Given the description of an element on the screen output the (x, y) to click on. 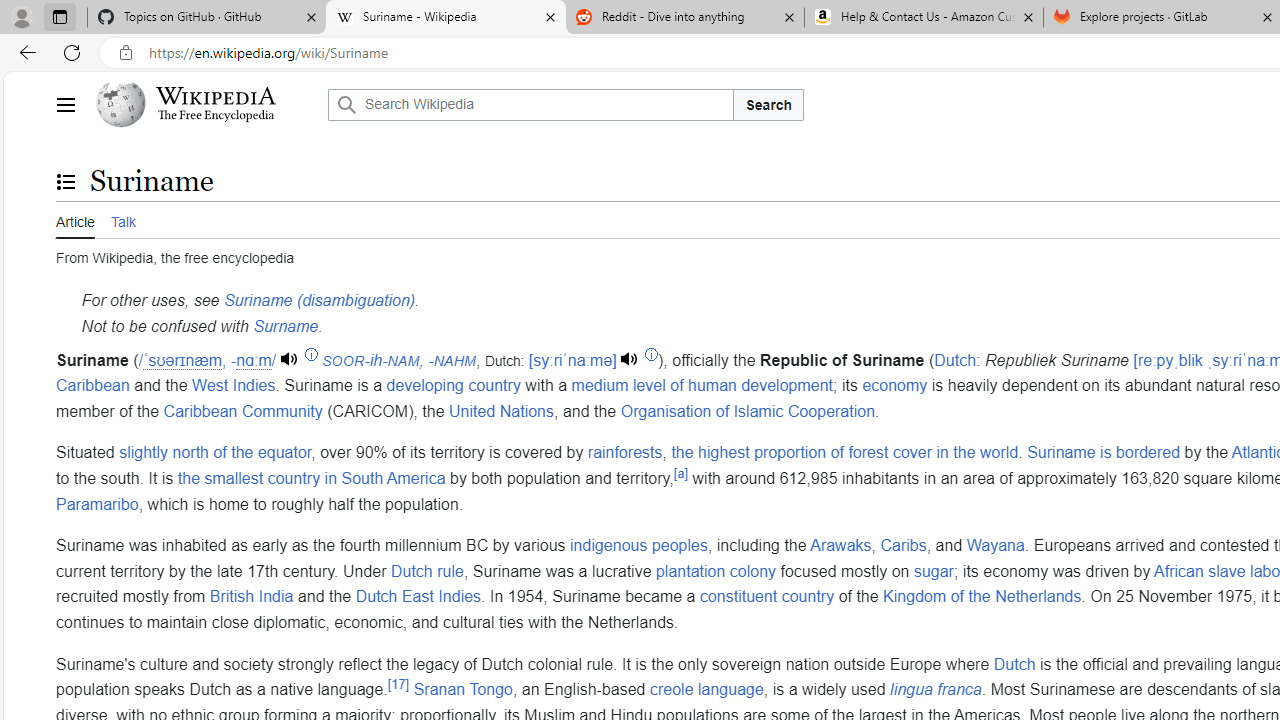
indigenous peoples (638, 546)
lingua franca (935, 690)
Toggle the table of contents (65, 181)
Surname (285, 325)
Dutch rule (426, 571)
The Free Encyclopedia (216, 116)
Wikipedia (216, 96)
Search Wikipedia (530, 104)
Organisation of Islamic Cooperation (747, 410)
Talk (122, 219)
[a] (680, 472)
the highest proportion of forest cover in the world (844, 453)
sugar (932, 571)
